Given the description of an element on the screen output the (x, y) to click on. 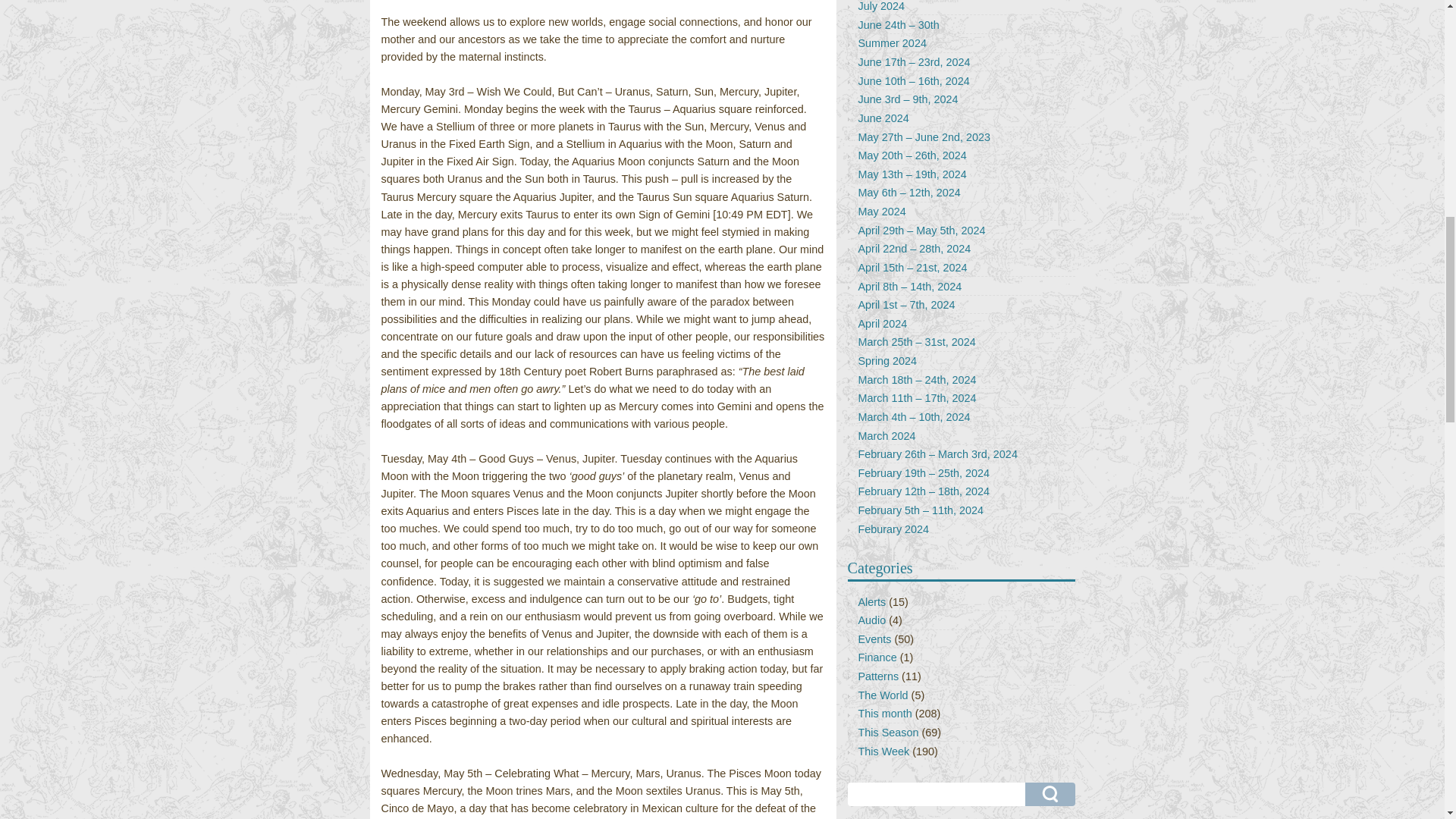
July 2024 (882, 6)
Search (1050, 793)
Summer 2024 (892, 42)
May 2024 (882, 211)
June 2024 (883, 118)
